Given the description of an element on the screen output the (x, y) to click on. 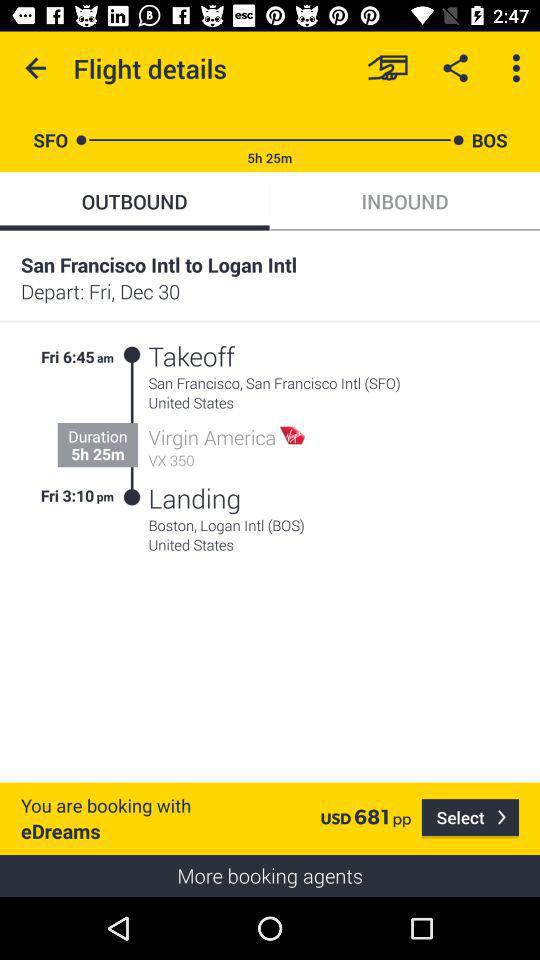
enter payment method (387, 67)
